Given the description of an element on the screen output the (x, y) to click on. 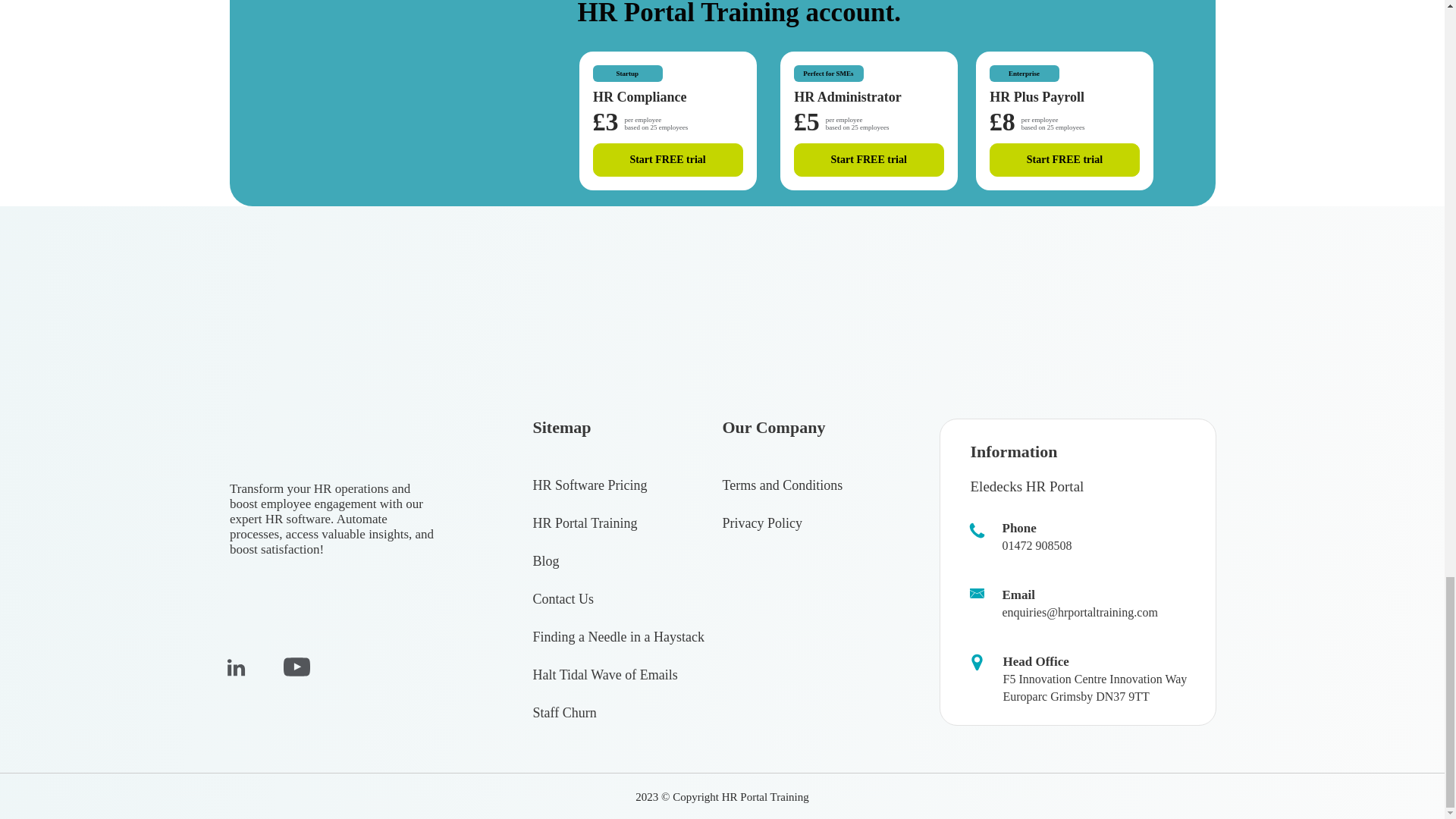
HR Software Pricing (589, 485)
Start FREE trial (1065, 159)
Blog (545, 561)
Start FREE trial (868, 159)
Halt Tidal Wave of Emails (604, 674)
HR Portal Training (584, 523)
Start FREE trial (667, 159)
Contact Us (563, 599)
Finding a Needle in a Haystack (617, 637)
